Given the description of an element on the screen output the (x, y) to click on. 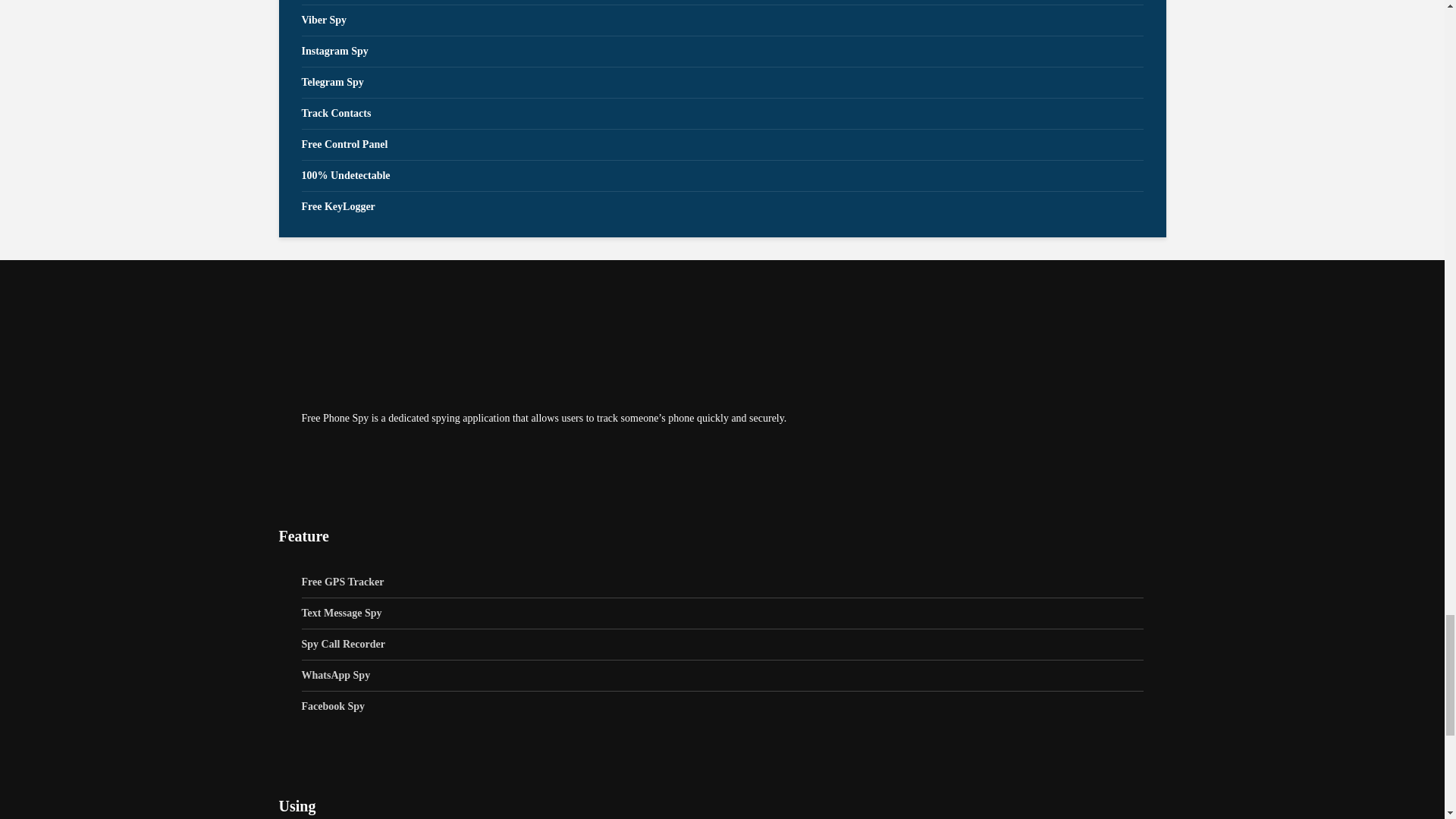
Free Control Panel (721, 144)
Telegram Spy (721, 82)
Text Message Spy (721, 613)
Viber Spy (721, 20)
Free KeyLogger (721, 206)
Free GPS Tracker (721, 582)
WhatsApp Spy (721, 675)
Spy Call Recorder (721, 644)
Instagram Spy (721, 51)
Track Contacts (721, 113)
